Given the description of an element on the screen output the (x, y) to click on. 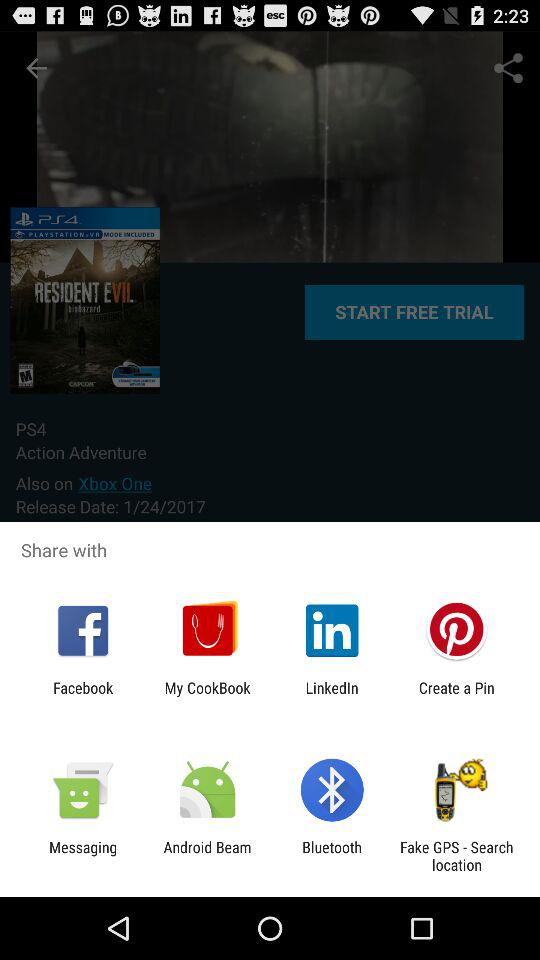
click bluetooth app (331, 856)
